Given the description of an element on the screen output the (x, y) to click on. 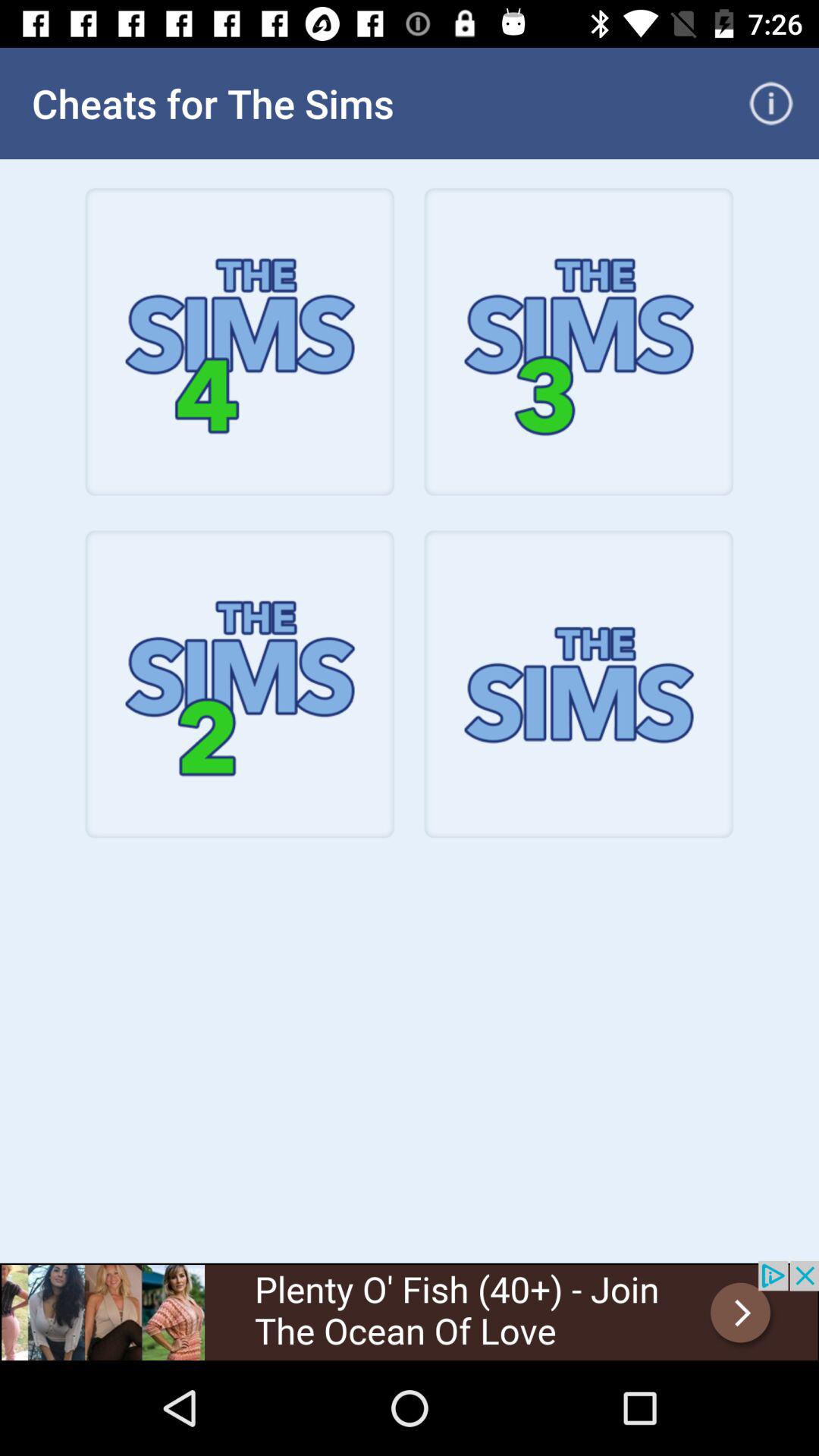
open advertisement (409, 1310)
